Given the description of an element on the screen output the (x, y) to click on. 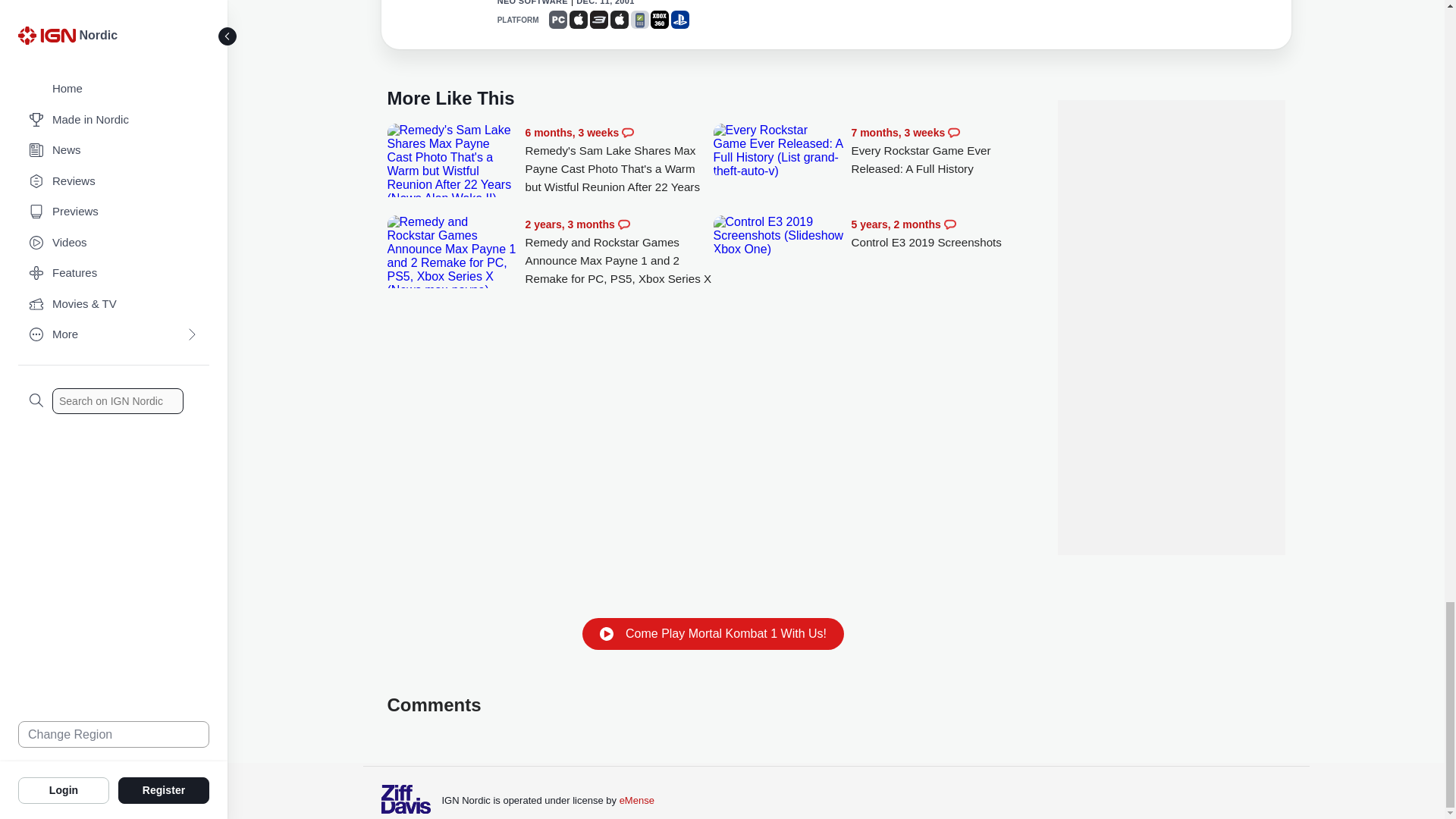
MACINTOSH (619, 19)
Control E3 2019 Screenshots (778, 235)
PS3 (598, 19)
IPHONE (578, 19)
Every Rockstar Game Ever Released: A Full History (944, 151)
Every Rockstar Game Ever Released: A Full History (778, 150)
PC (557, 19)
Control E3 2019 Screenshots (944, 233)
ANDROID (639, 19)
